Given the description of an element on the screen output the (x, y) to click on. 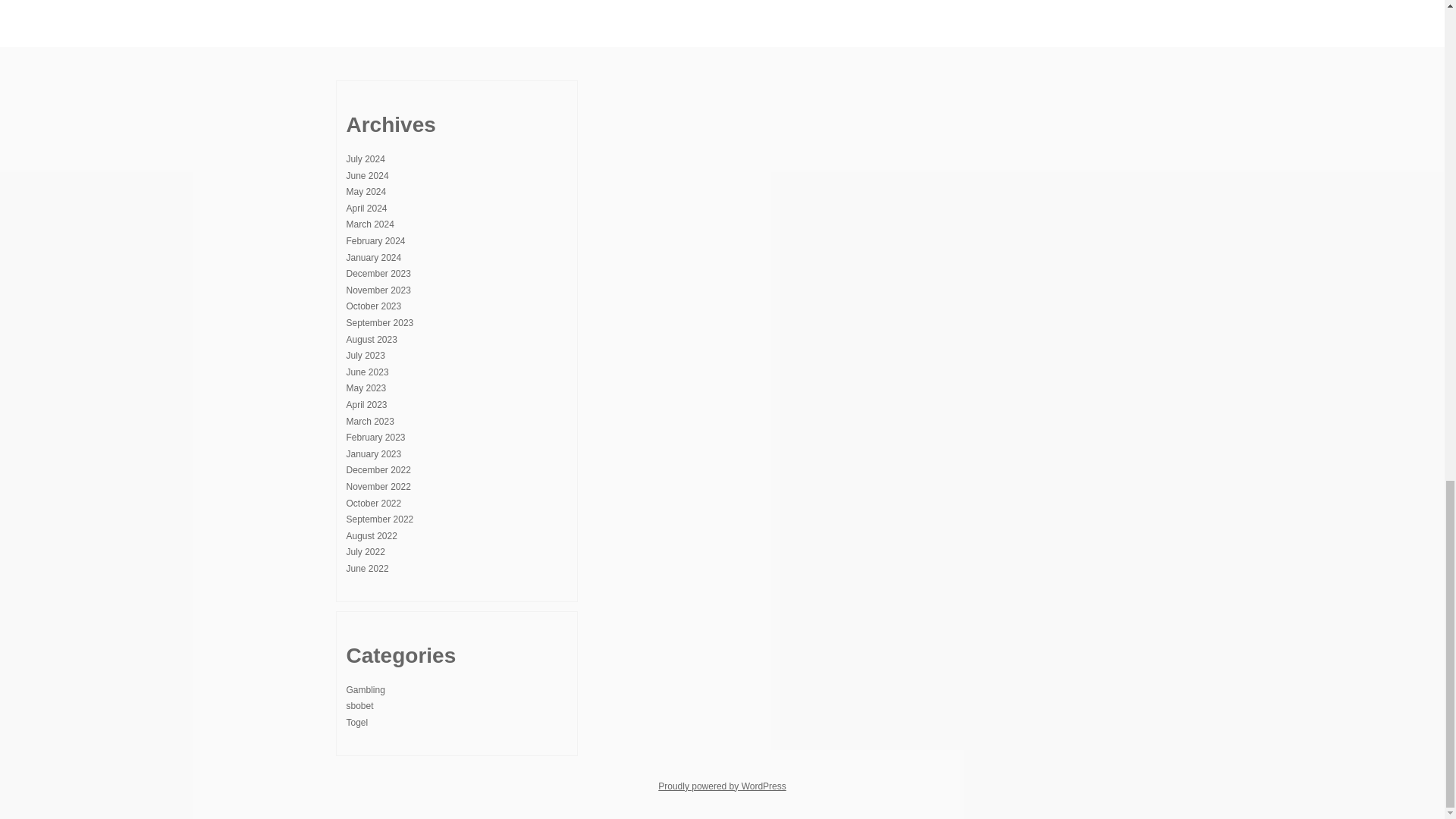
July 2024 (365, 158)
February 2024 (375, 240)
June 2024 (367, 175)
May 2024 (365, 191)
April 2024 (366, 208)
March 2024 (369, 224)
